Given the description of an element on the screen output the (x, y) to click on. 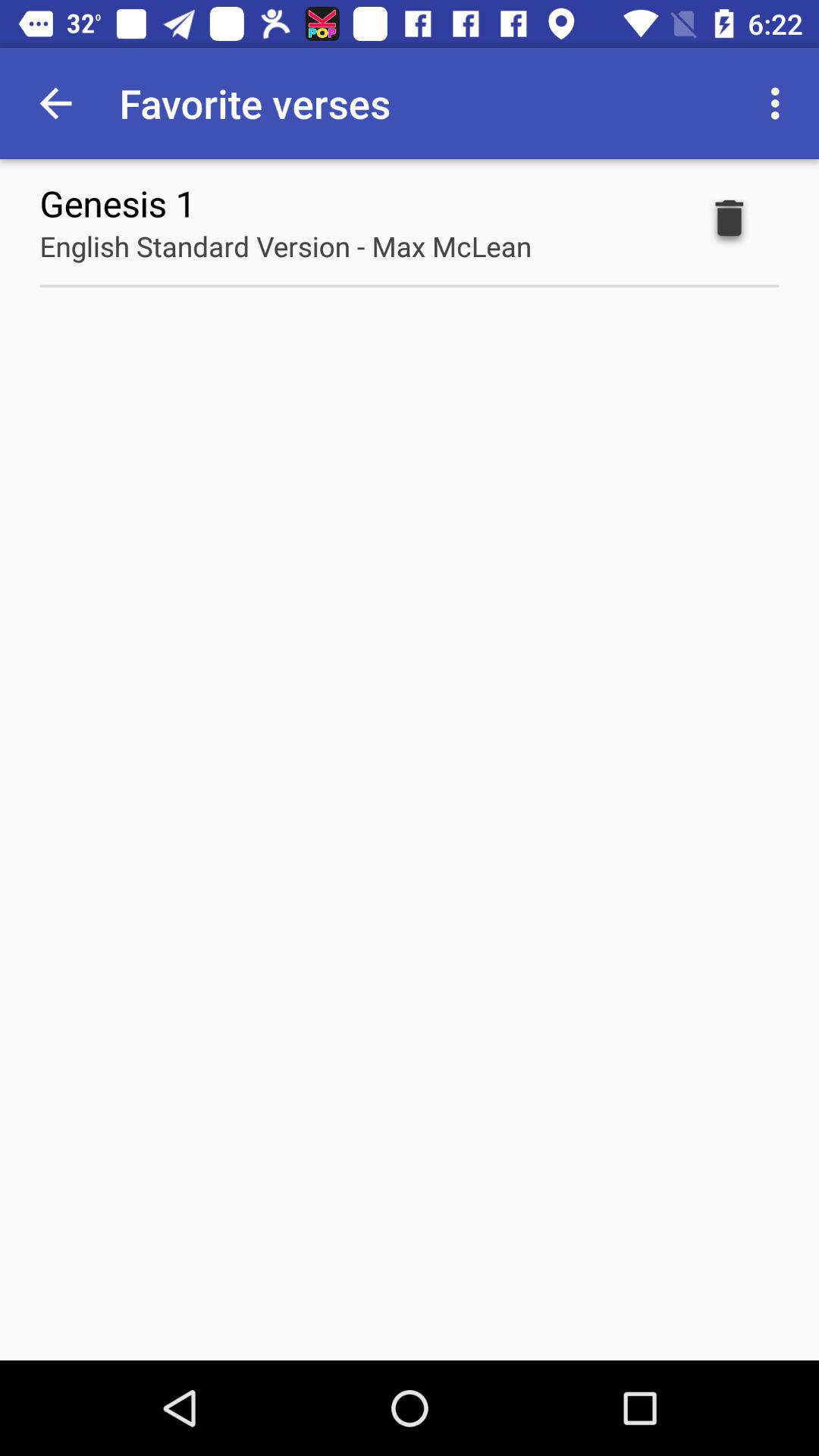
flip until english standard version (285, 246)
